Given the description of an element on the screen output the (x, y) to click on. 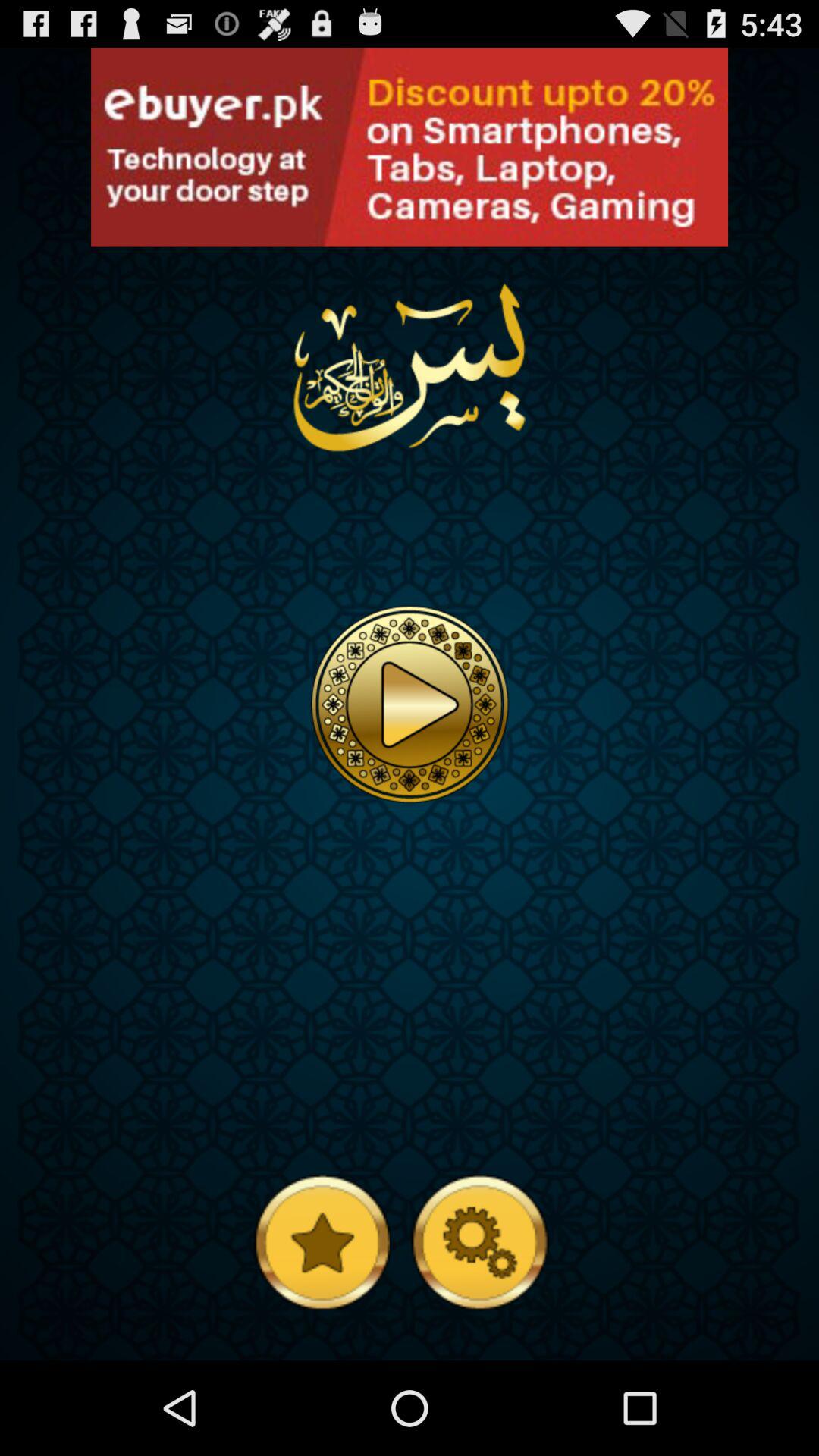
open advertisement (106, 231)
